Given the description of an element on the screen output the (x, y) to click on. 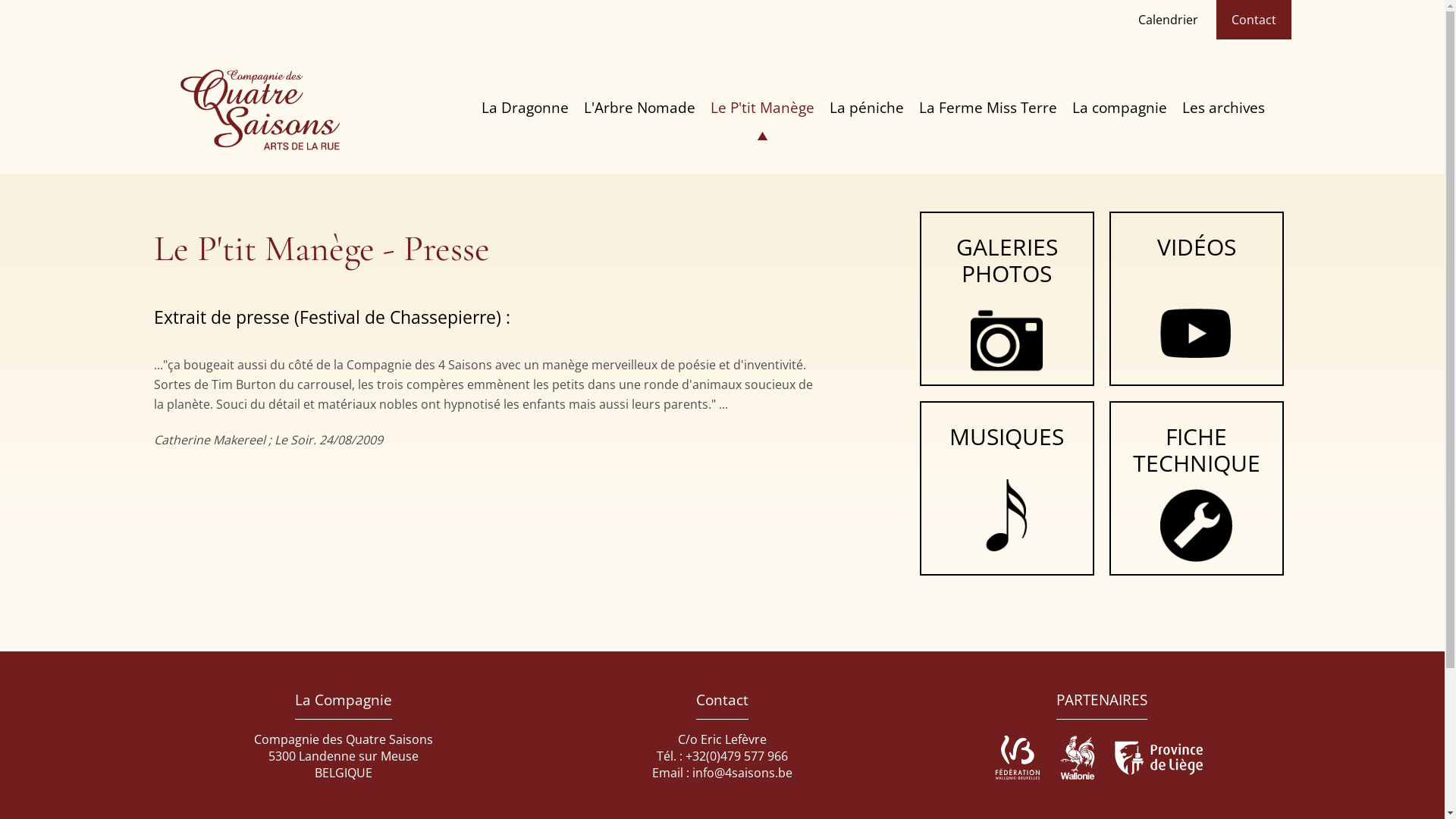
La Dragonne Element type: text (524, 107)
L'Arbre Nomade Element type: text (639, 107)
Les archives Element type: text (1222, 107)
La Ferme Miss Terre Element type: text (987, 107)
info@4saisons.be Element type: text (742, 772)
Calendrier Element type: text (1167, 19)
+32(0)479 577 966 Element type: text (736, 755)
La compagnie Element type: text (1119, 107)
Contact Element type: text (1253, 19)
